Given the description of an element on the screen output the (x, y) to click on. 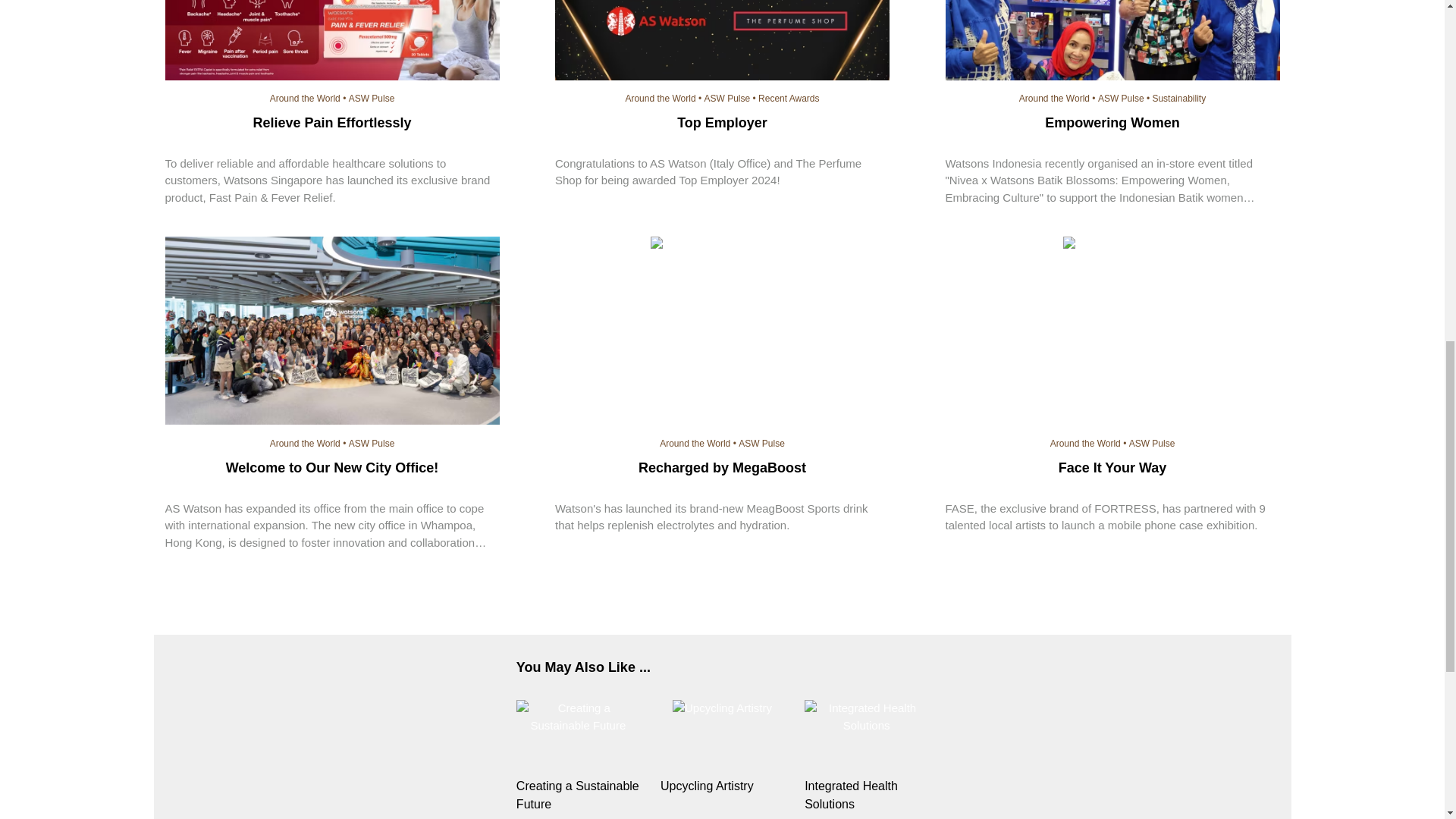
Creating a Sustainable Future (578, 716)
Welcome to Our New City Office! (332, 332)
Integrated Health Solutions (866, 716)
Upcycling Artistry (722, 786)
Recharged by MegaBoost (721, 244)
Creating a Sustainable Future (578, 795)
Top Employer (721, 42)
Relieve Pain Effortlessly (332, 42)
Face It Your Way (1111, 244)
Empowering Women (1111, 42)
